Given the description of an element on the screen output the (x, y) to click on. 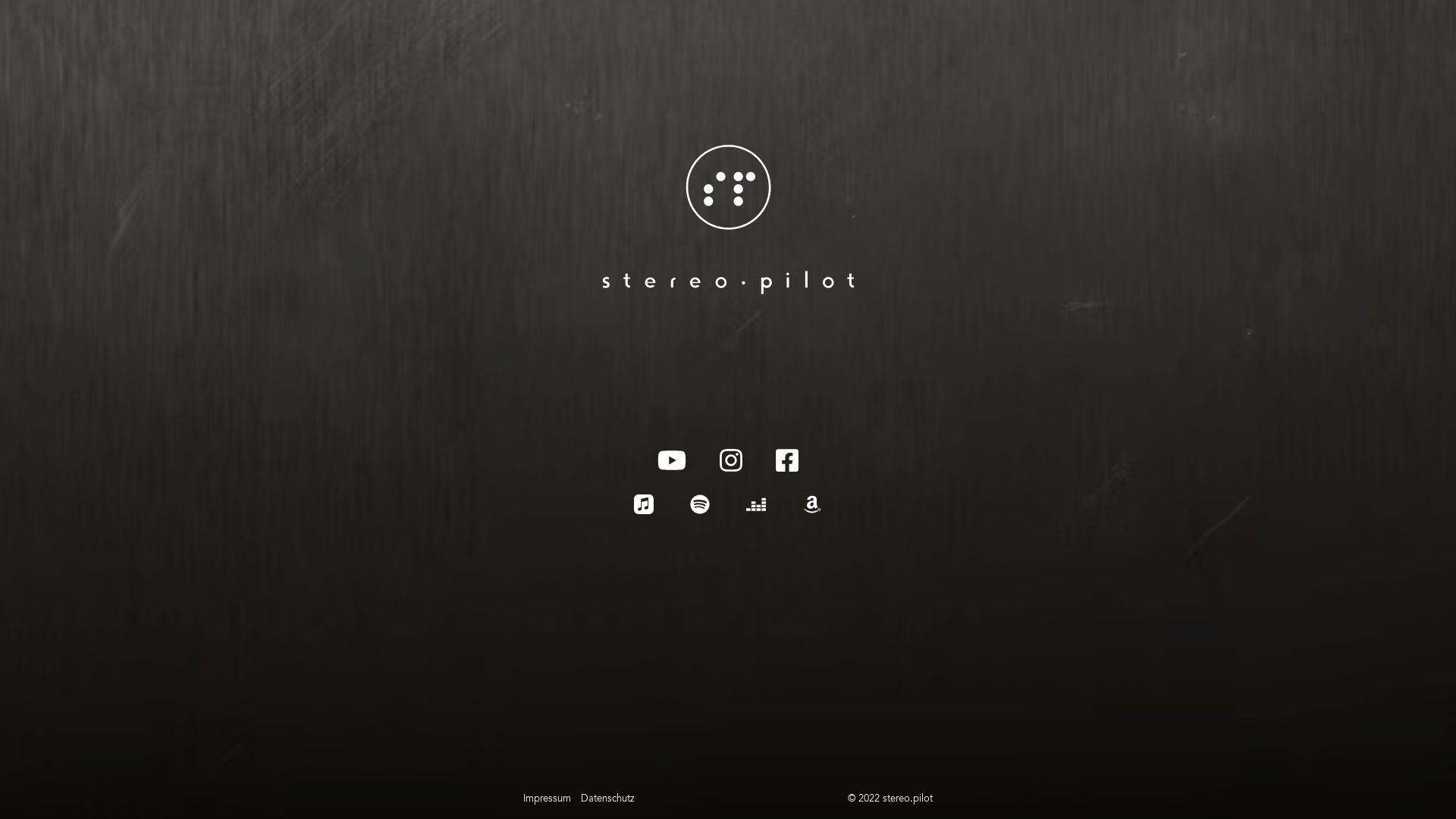
Gravity at Apple Music Element type: text (643, 504)
stereo.pilot on Facebook Element type: text (787, 460)
Datenschutz Element type: text (607, 798)
Gravity at Spotify Element type: text (699, 504)
Gravity at Amazon Element type: text (812, 504)
stereo.pilot on Instagram Element type: text (730, 460)
Gravity at Deezer Element type: text (755, 504)
Impressum Element type: text (547, 798)
